Given the description of an element on the screen output the (x, y) to click on. 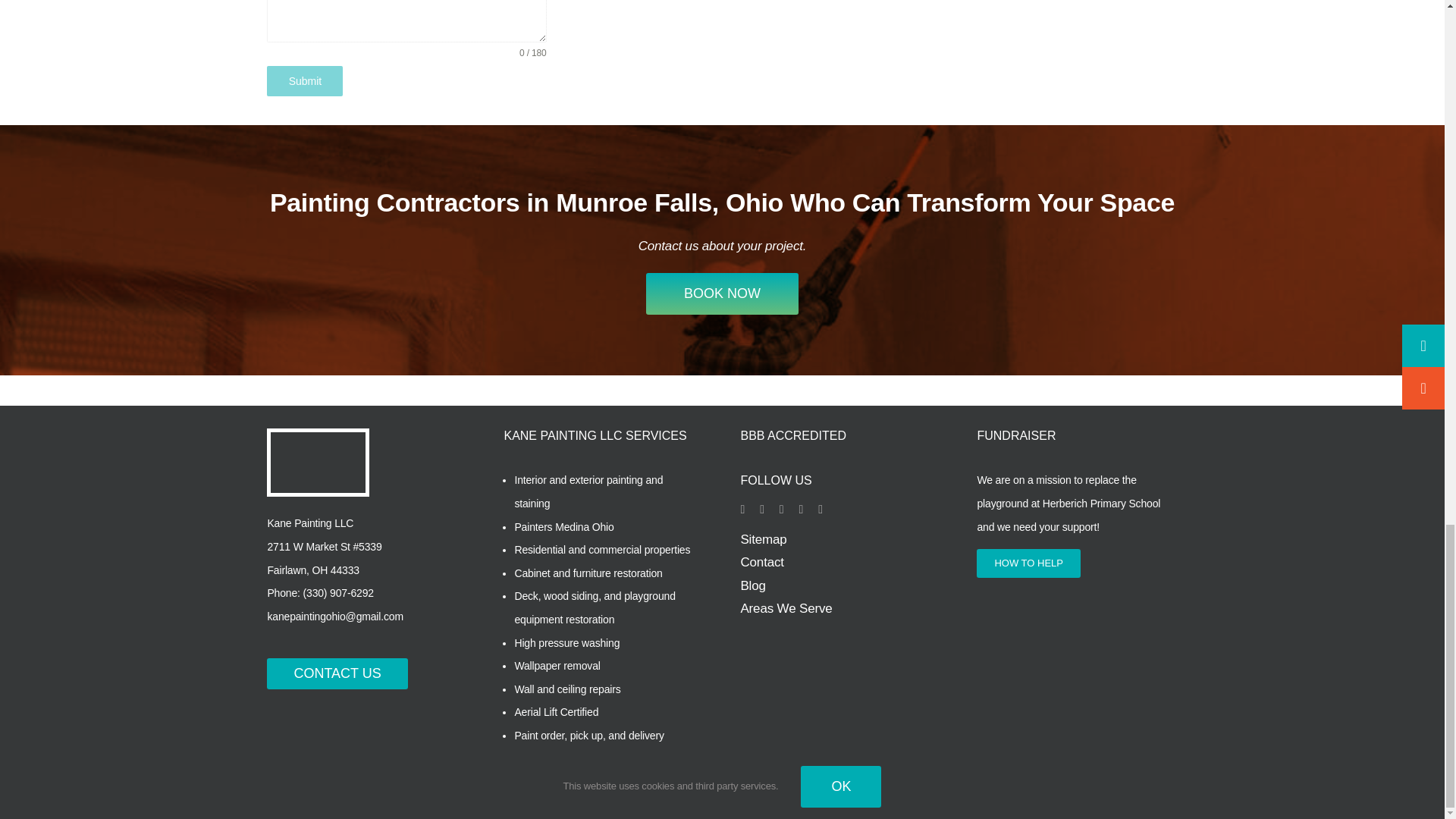
CONTACT US (336, 673)
High pressure washing (566, 643)
Wall and ceiling repairs (566, 689)
Interior and exterior painting and staining (587, 491)
Painters Medina Ohio (562, 526)
Cabinet and furniture restoration (587, 573)
Paint order, pick up, and delivery (588, 735)
Submit (304, 81)
Deck, wood siding, and playground equipment restoration (594, 607)
BOOK NOW (721, 293)
Wallpaper removal  (557, 665)
Aerial Lift Certified (555, 711)
